Given the description of an element on the screen output the (x, y) to click on. 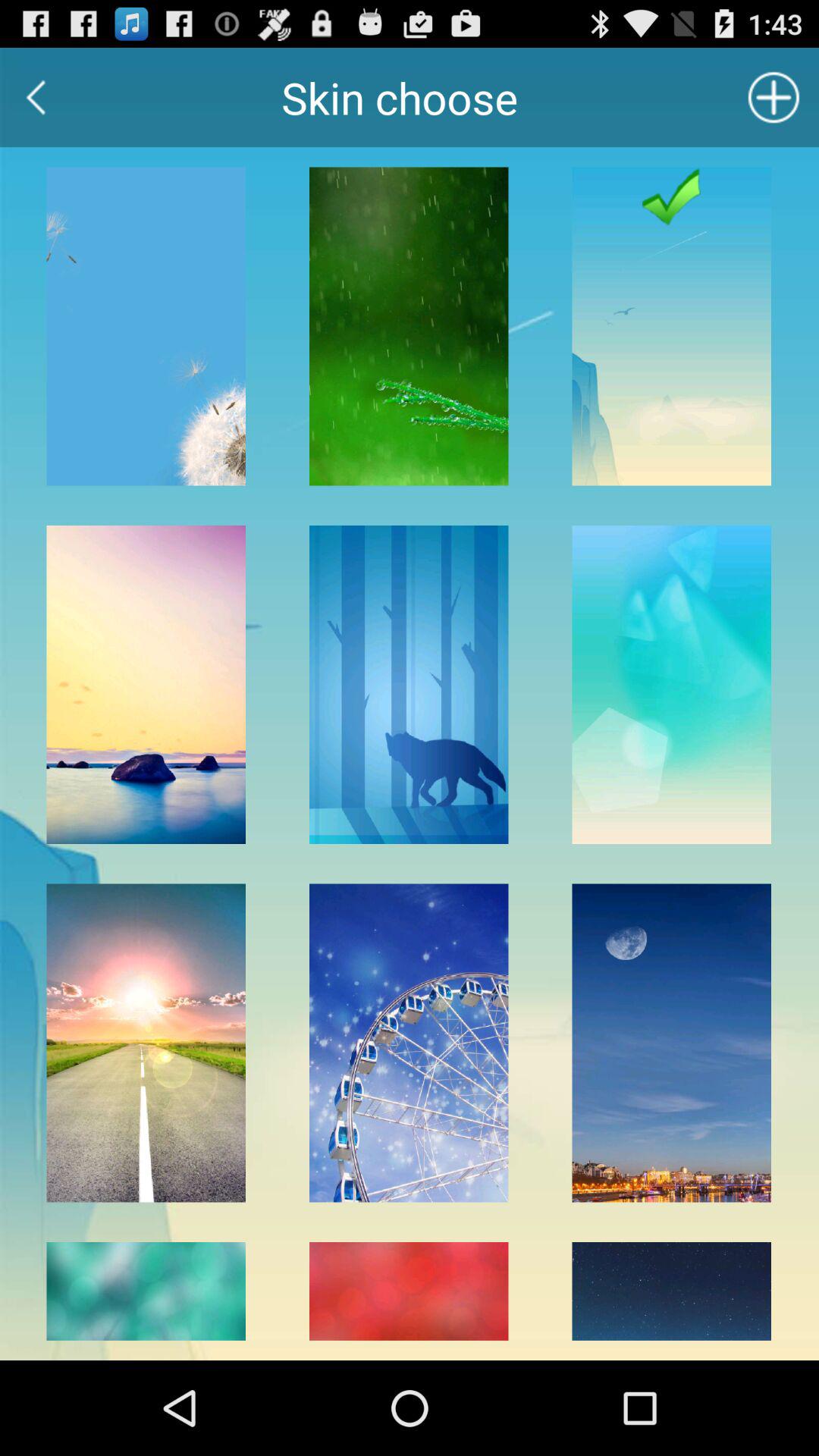
select icon next to skin choose (773, 97)
